Given the description of an element on the screen output the (x, y) to click on. 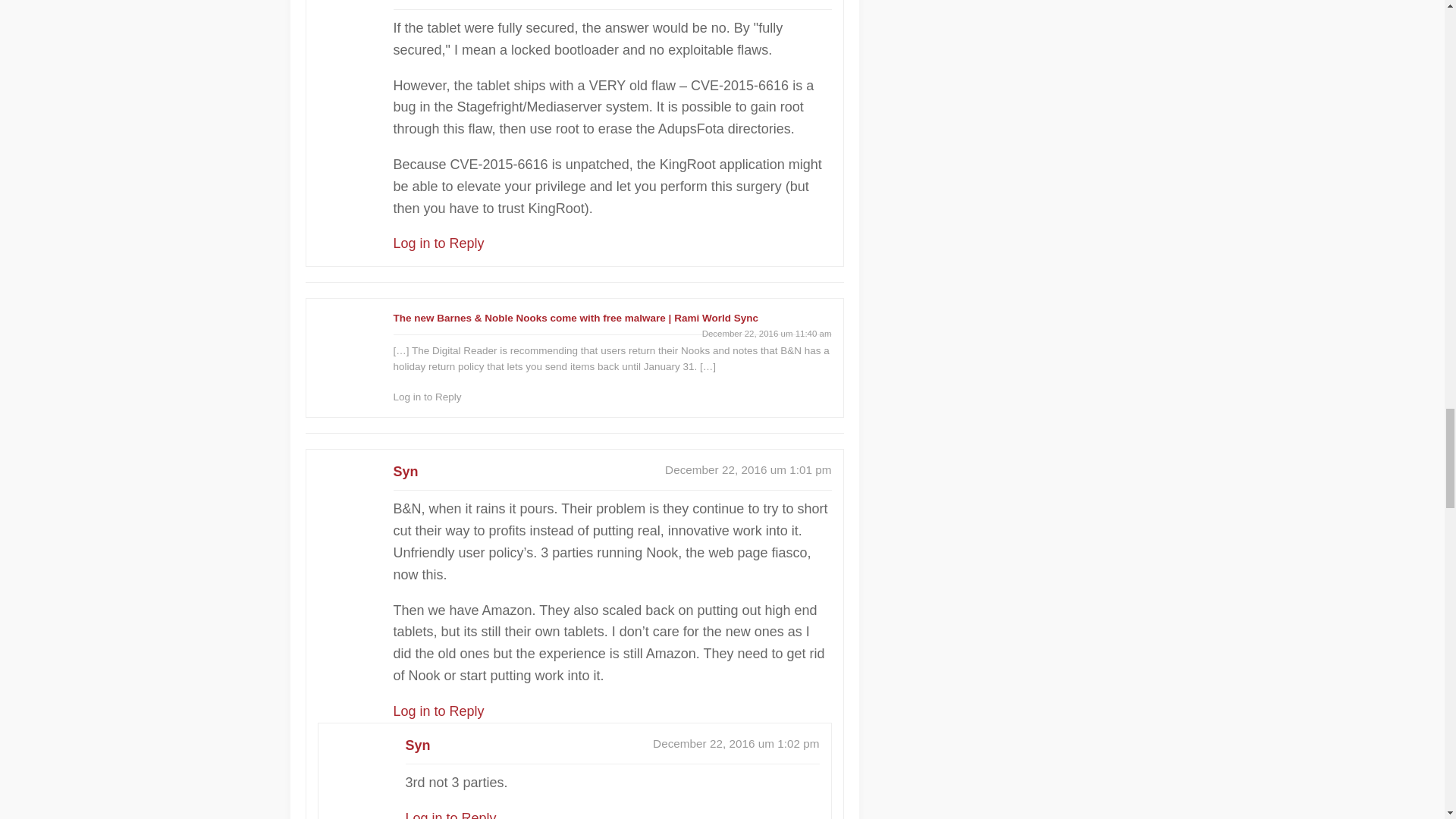
Log in to Reply (450, 814)
Log in to Reply (427, 396)
Log in to Reply (438, 711)
Log in to Reply (438, 242)
